Given the description of an element on the screen output the (x, y) to click on. 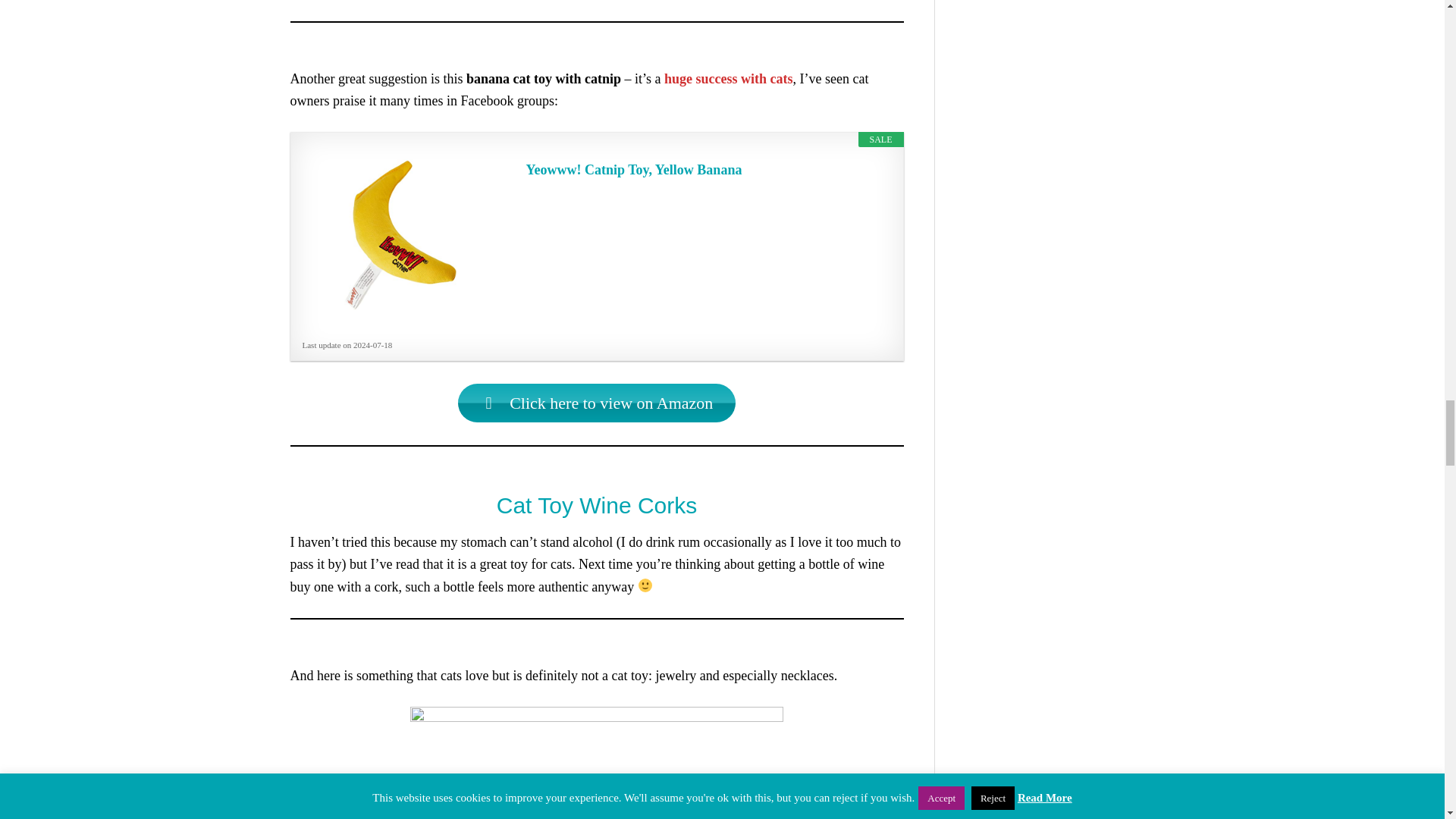
Yeowww! Catnip Toy, Yellow Banana (400, 234)
Yeowww! Catnip Toy, Yellow Banana (706, 169)
Yeowww! Catnip Toy, Yellow Banana (706, 169)
Click here to view on Amazon (597, 403)
